Given the description of an element on the screen output the (x, y) to click on. 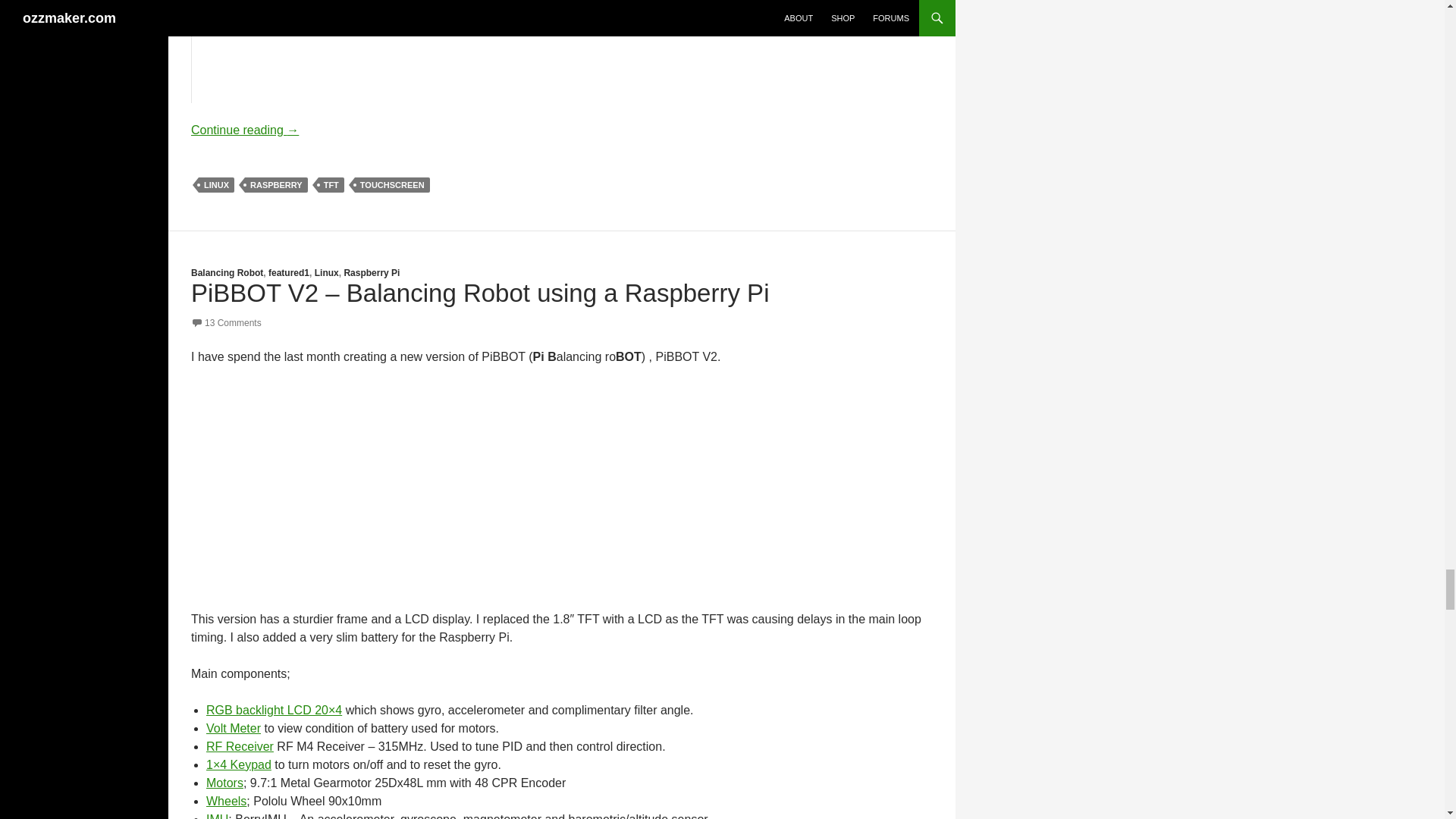
Wheels (226, 800)
